Given the description of an element on the screen output the (x, y) to click on. 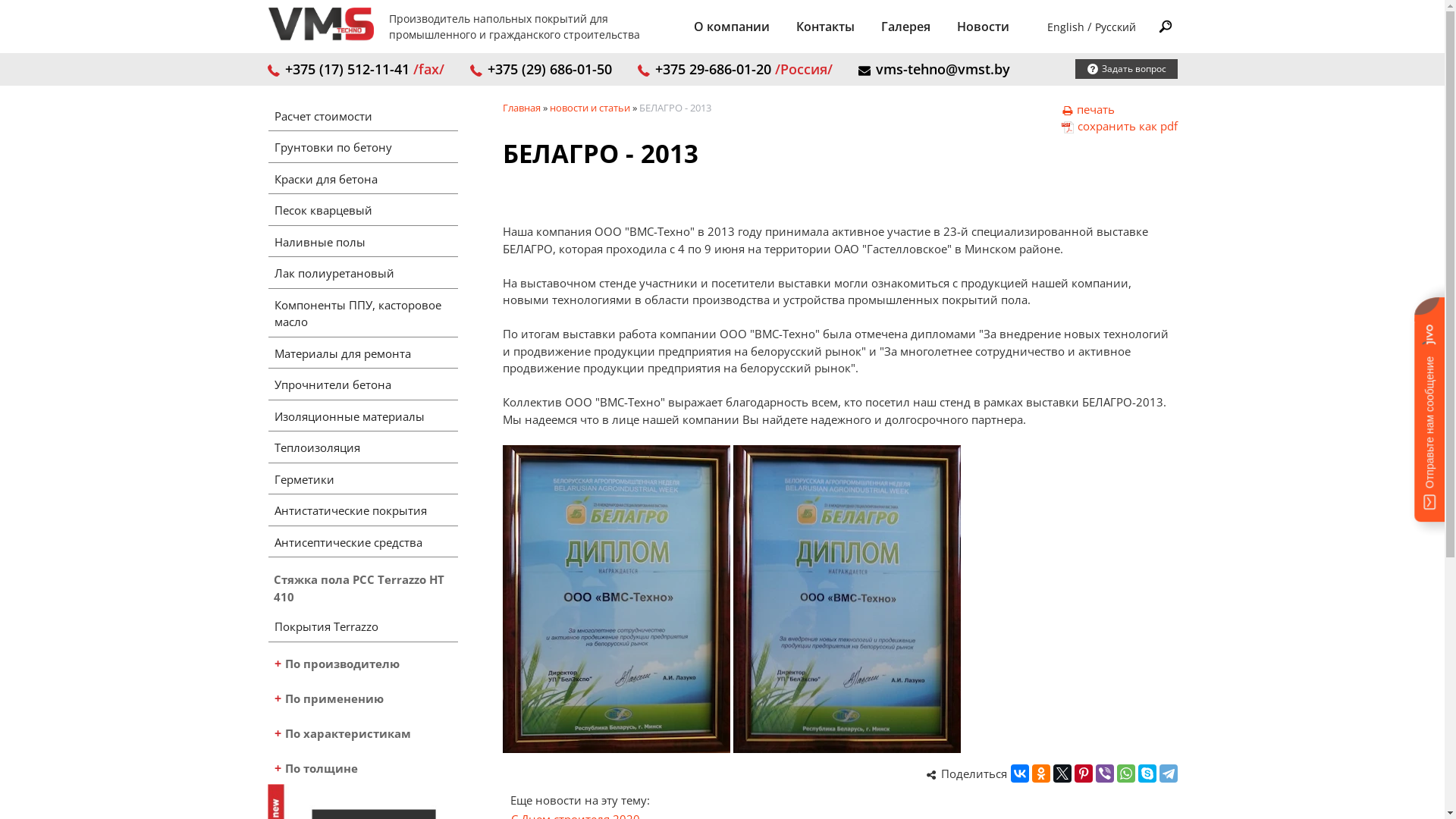
WhatsApp Element type: hover (1125, 773)
Skype Element type: hover (1146, 773)
Viber Element type: hover (1104, 773)
vms-tehno@vmst.by Element type: text (934, 68)
Telegram Element type: hover (1167, 773)
Pinterest Element type: hover (1082, 773)
+375 (29) 686-01-50 Element type: text (540, 68)
+375 (17) 512-11-41 /fax/ Element type: text (354, 68)
Twitter Element type: hover (1061, 773)
English Element type: text (1064, 27)
